Given the description of an element on the screen output the (x, y) to click on. 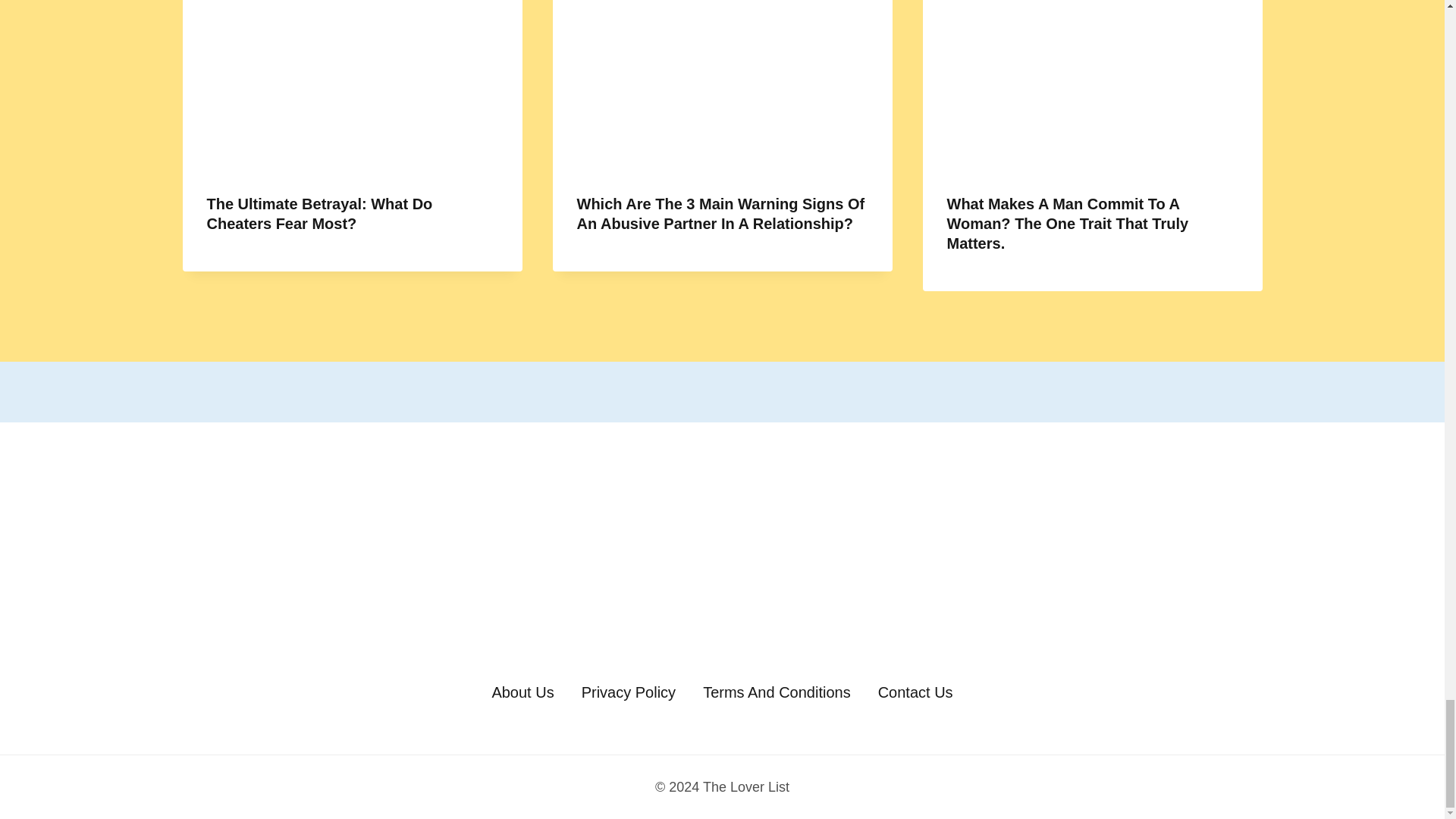
The Ultimate Betrayal: What Do Cheaters Fear Most? (319, 213)
